Given the description of an element on the screen output the (x, y) to click on. 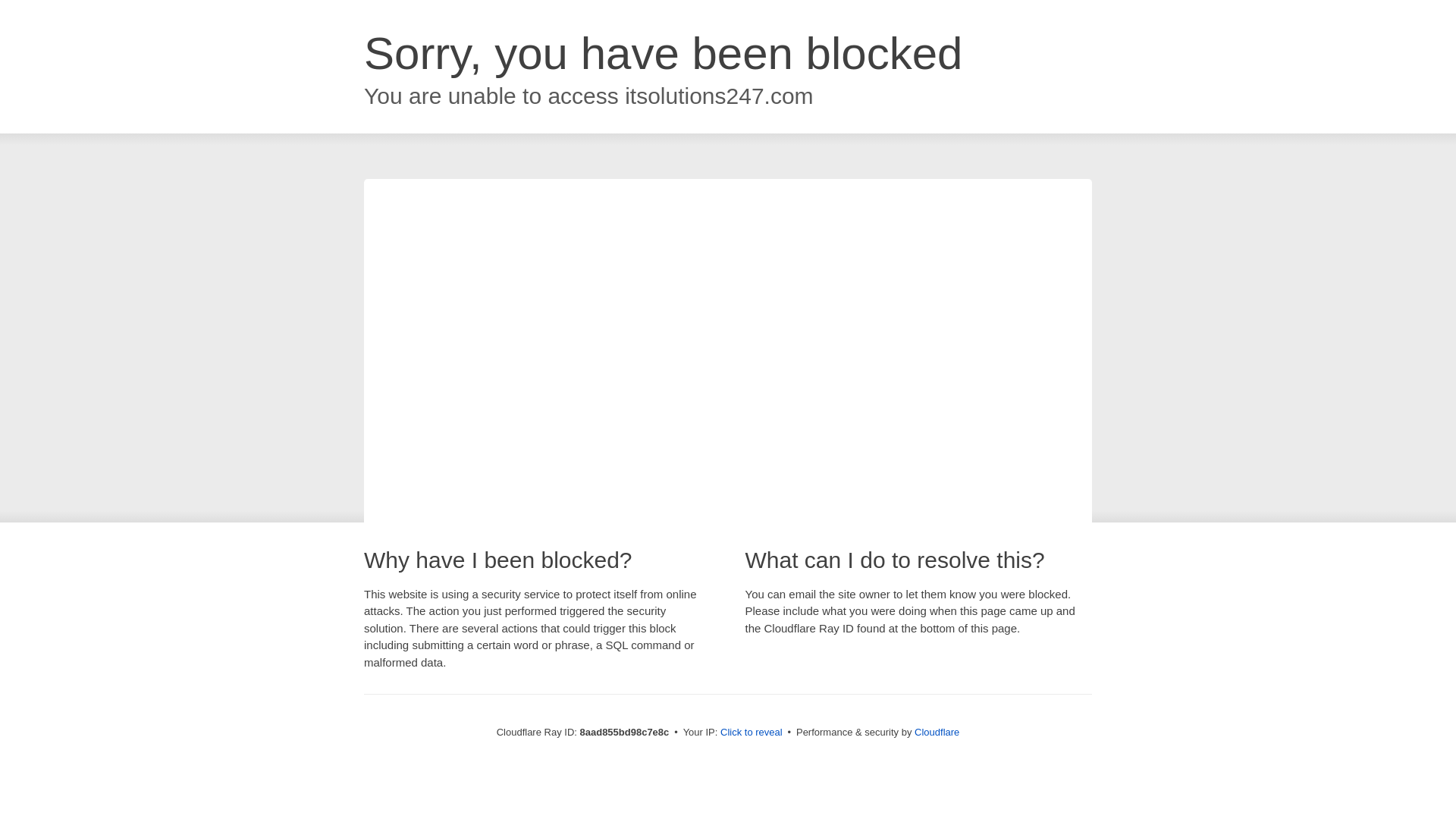
Click to reveal (751, 732)
Cloudflare (936, 731)
